Given the description of an element on the screen output the (x, y) to click on. 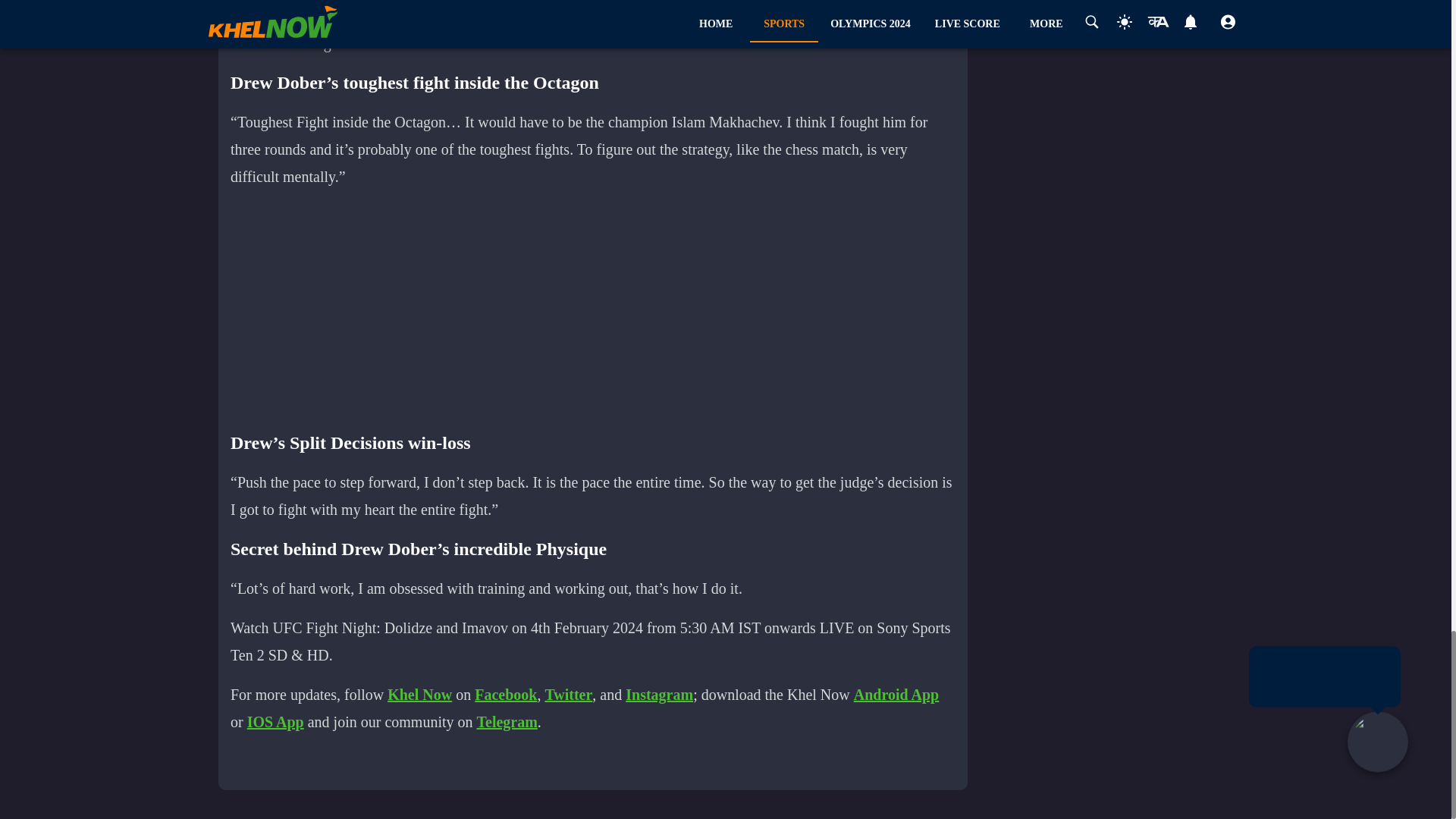
Instagram (659, 694)
IOS App (275, 721)
Facebook (505, 694)
Twitter (568, 694)
Telegram (506, 721)
Khel Now (419, 694)
myFrame (600, 308)
Android App (896, 694)
